Given the description of an element on the screen output the (x, y) to click on. 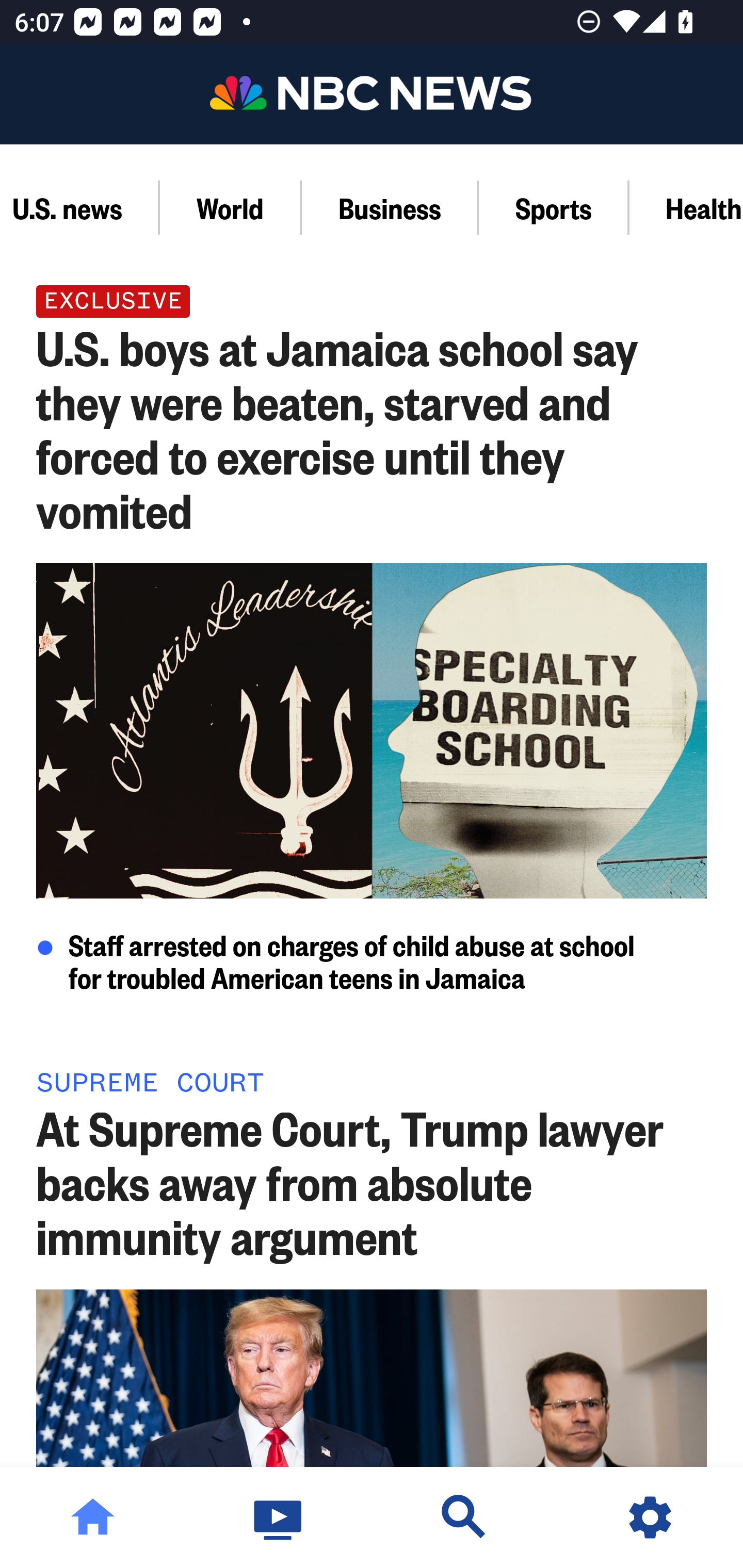
U.S. news Section,U.S. news (79, 207)
World Section,World (230, 207)
Business Section,Business (389, 207)
Sports Section,Sports (553, 207)
Health Section,Health (686, 207)
Watch (278, 1517)
Discover (464, 1517)
Settings (650, 1517)
